Given the description of an element on the screen output the (x, y) to click on. 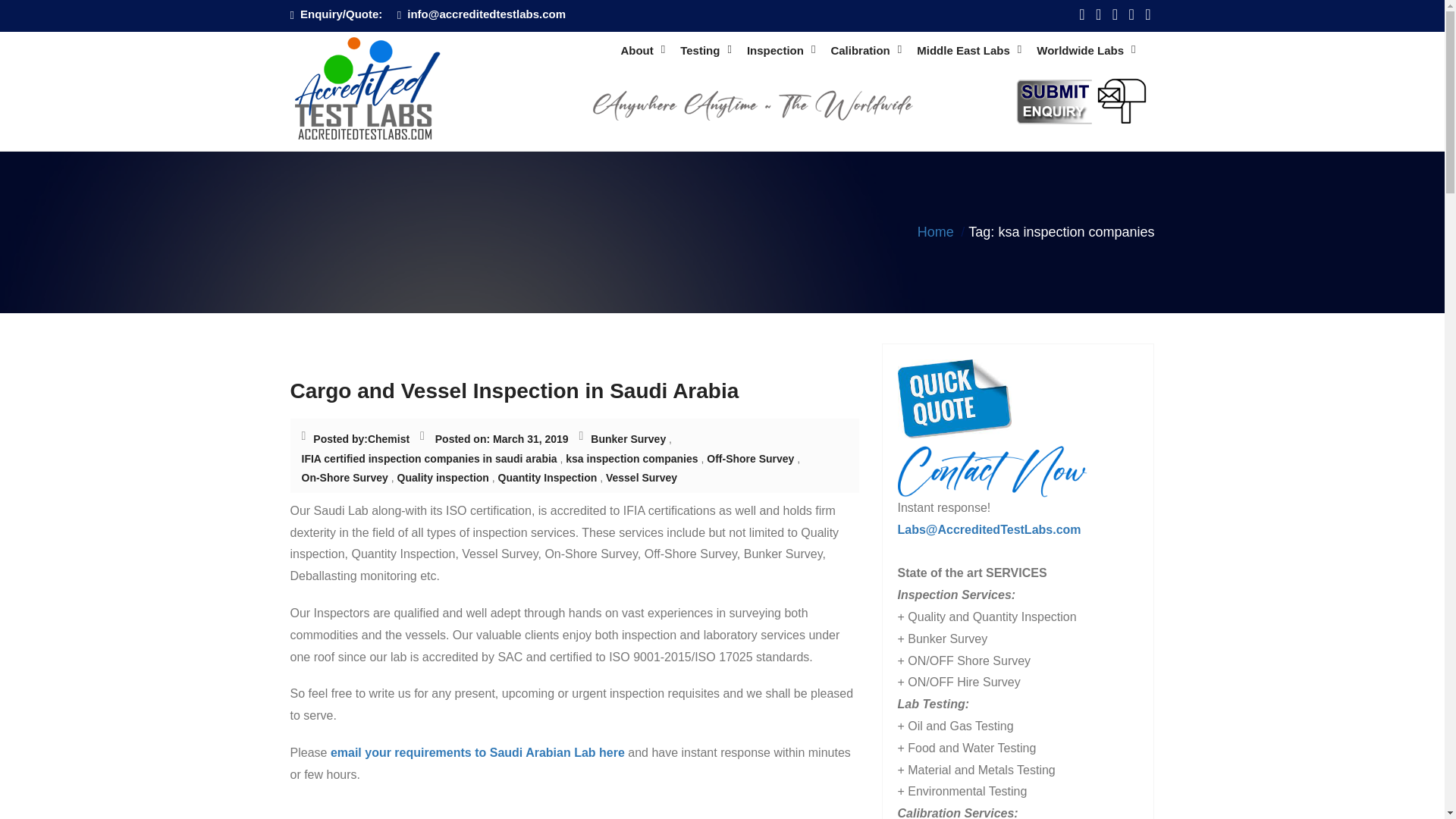
Inspection (781, 51)
About (642, 51)
Testing (705, 51)
Testing (705, 51)
About (642, 51)
